Given the description of an element on the screen output the (x, y) to click on. 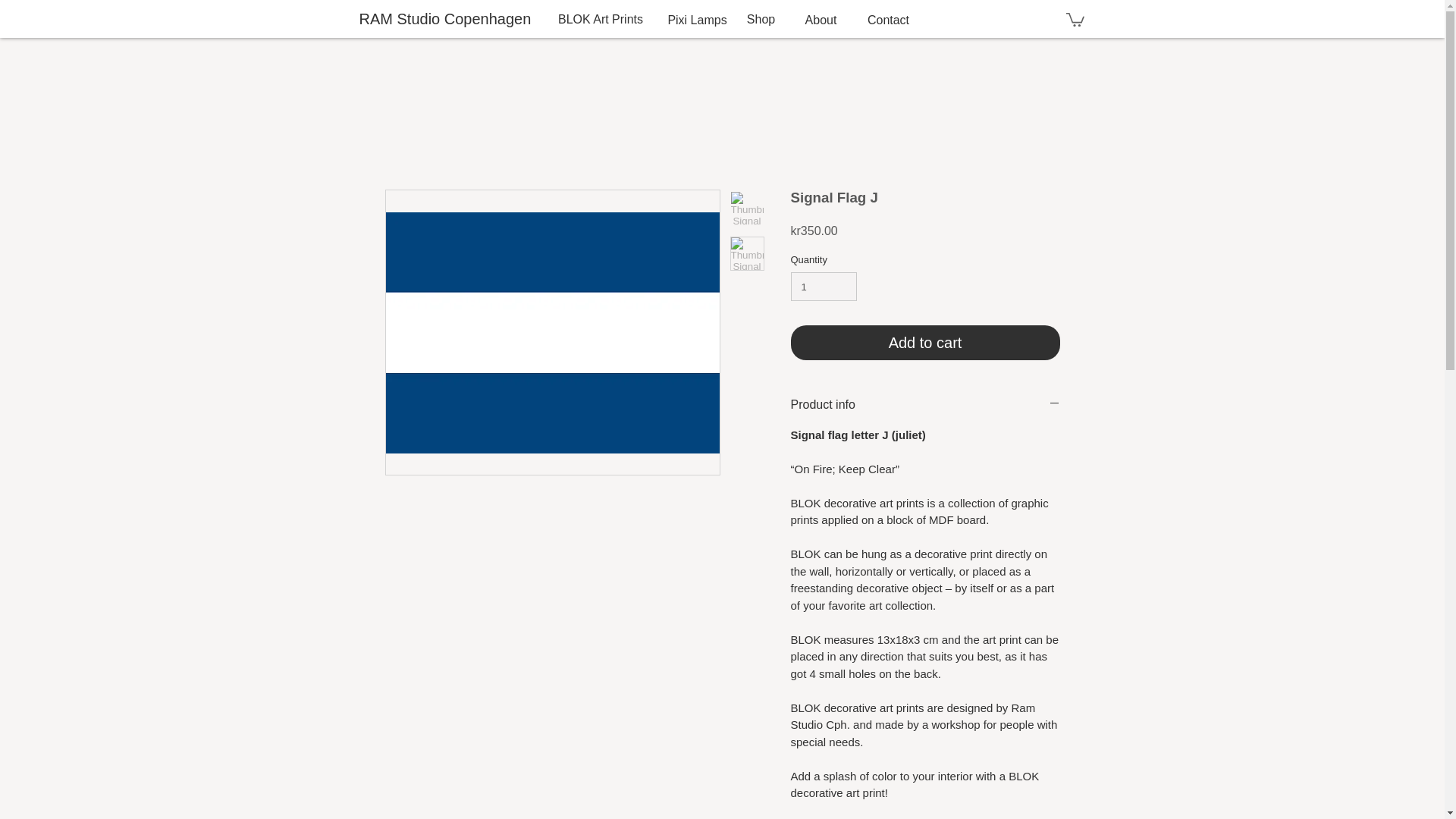
Contact (888, 20)
Pixi Lamps (696, 20)
1 (823, 286)
About (820, 20)
BLOK Art Prints (600, 19)
Shop (761, 20)
RAM Studio Copenhagen (451, 18)
Product info (924, 404)
Add to cart (924, 342)
